Given the description of an element on the screen output the (x, y) to click on. 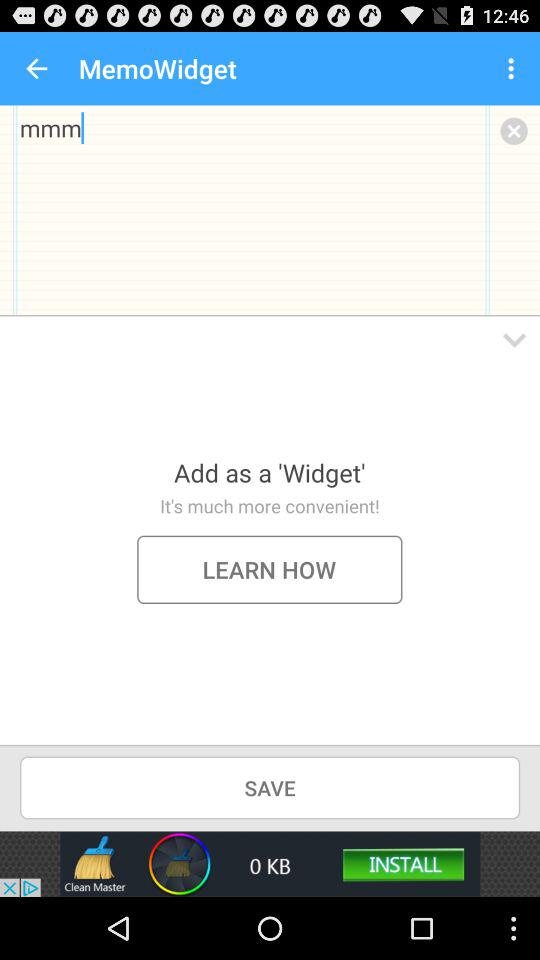
drop down button (514, 340)
